Given the description of an element on the screen output the (x, y) to click on. 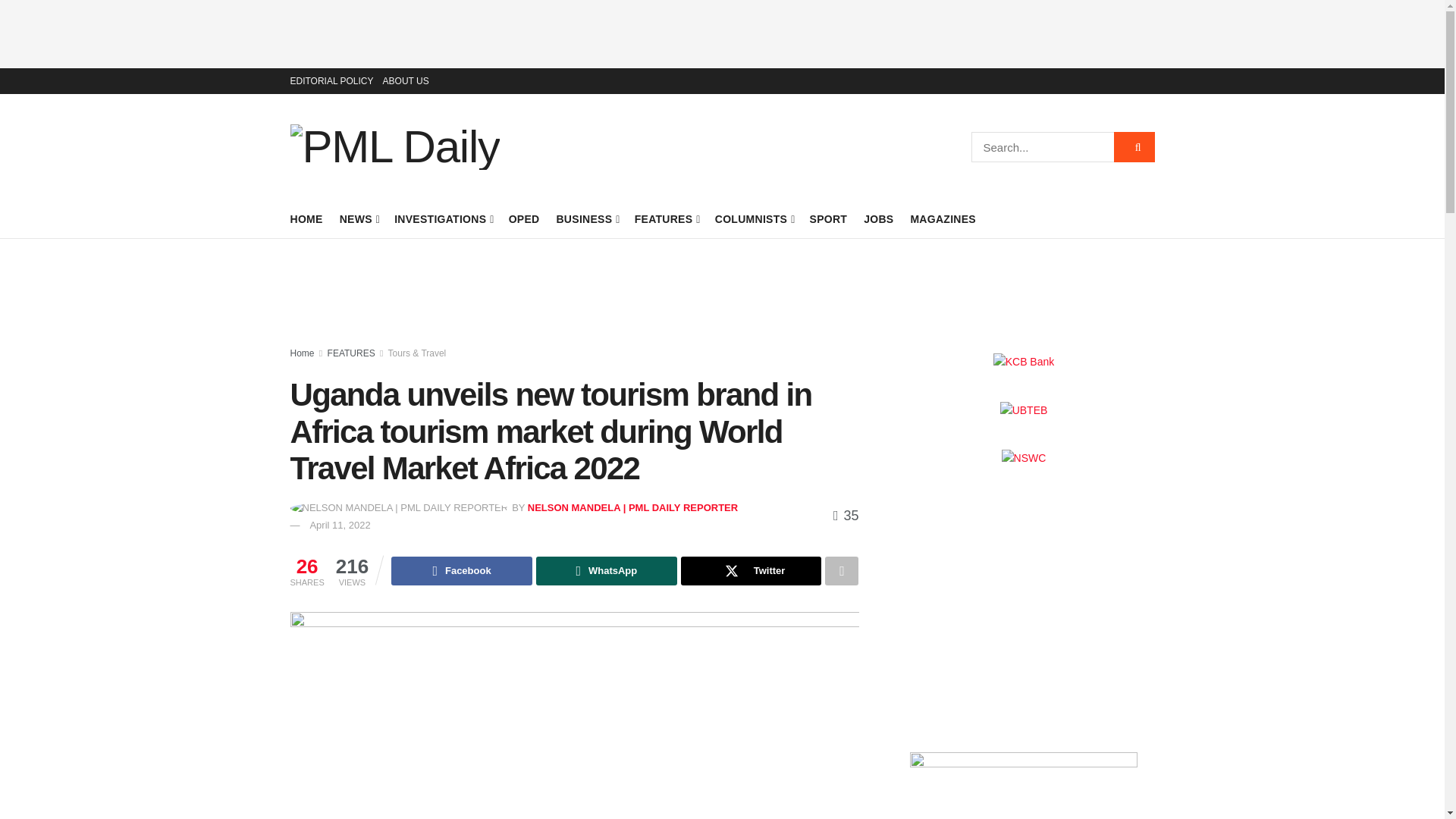
JOBS (878, 219)
NEWS (358, 219)
BUSINESS (586, 219)
COLUMNISTS (753, 219)
OPED (524, 219)
MAGAZINES (942, 219)
INVESTIGATIONS (443, 219)
SPORT (828, 219)
FEATURES (666, 219)
ABOUT US (405, 80)
